Given the description of an element on the screen output the (x, y) to click on. 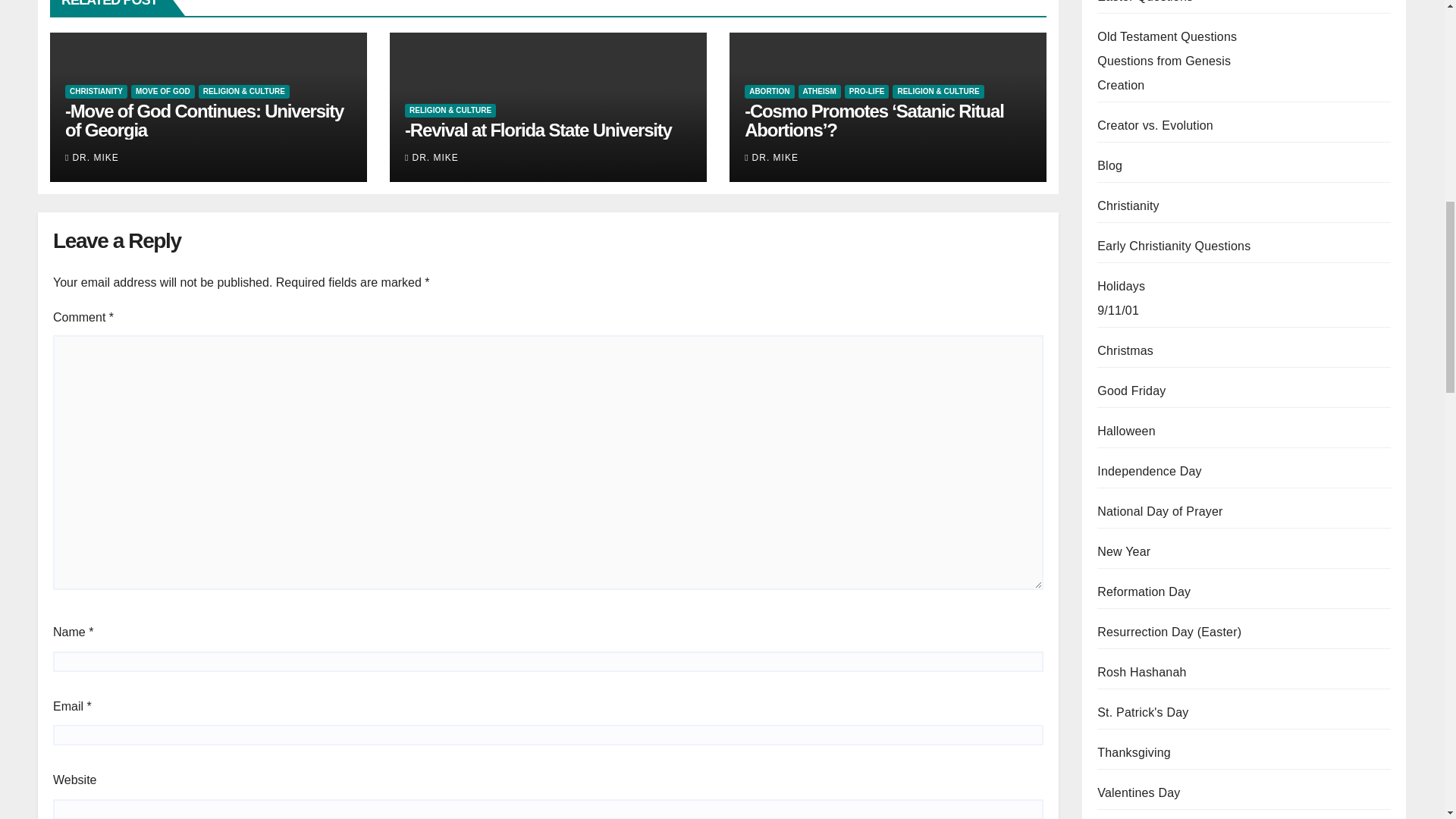
-Move of God Continues: University of Georgia (204, 120)
MOVE OF GOD (163, 91)
Permalink to: -Move of God Continues: University of Georgia (204, 120)
Permalink to: -Revival at Florida State University (537, 129)
CHRISTIANITY (96, 91)
DR. MIKE (92, 157)
